Given the description of an element on the screen output the (x, y) to click on. 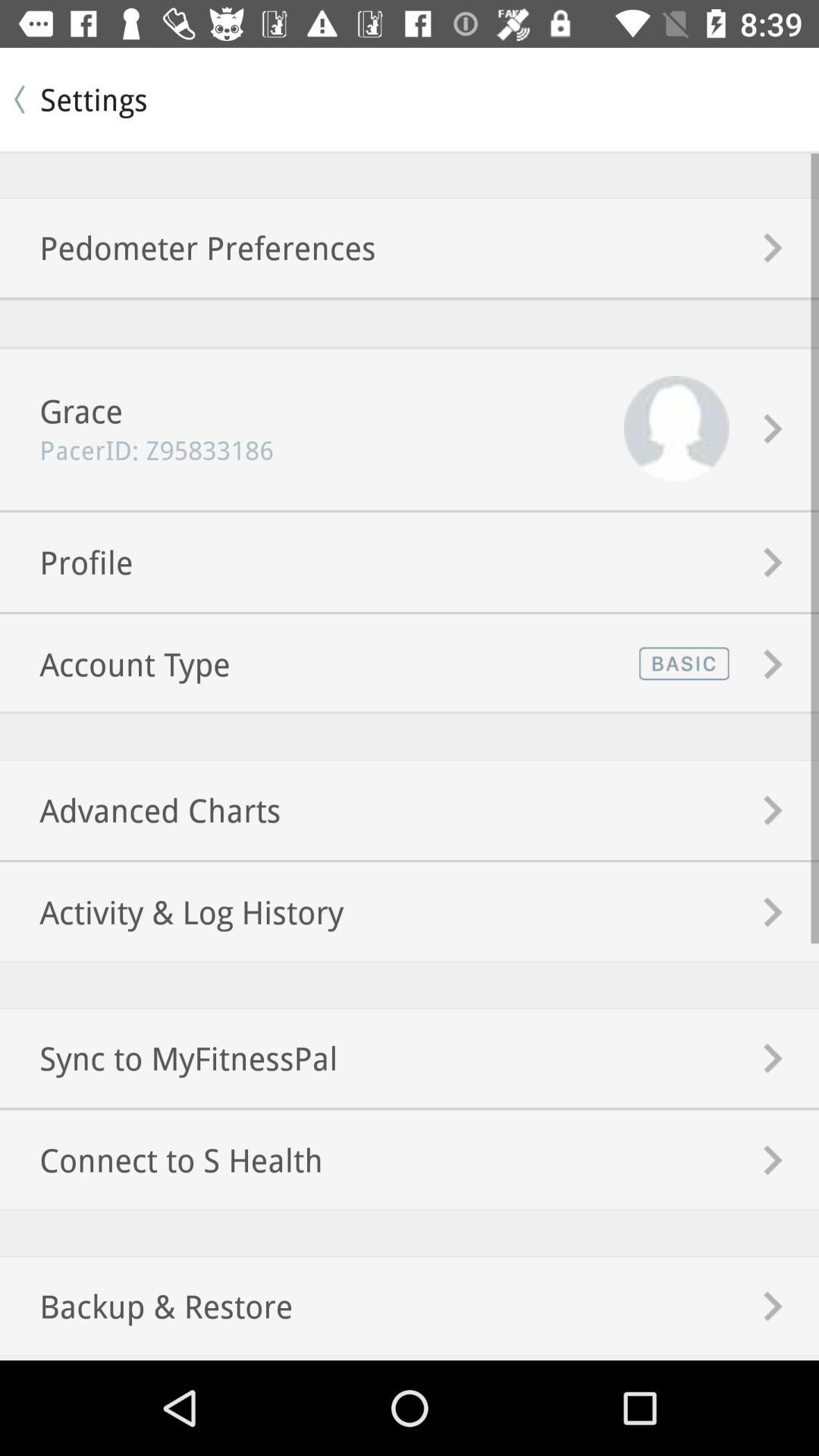
choose the item to the right of the account type icon (681, 663)
